Given the description of an element on the screen output the (x, y) to click on. 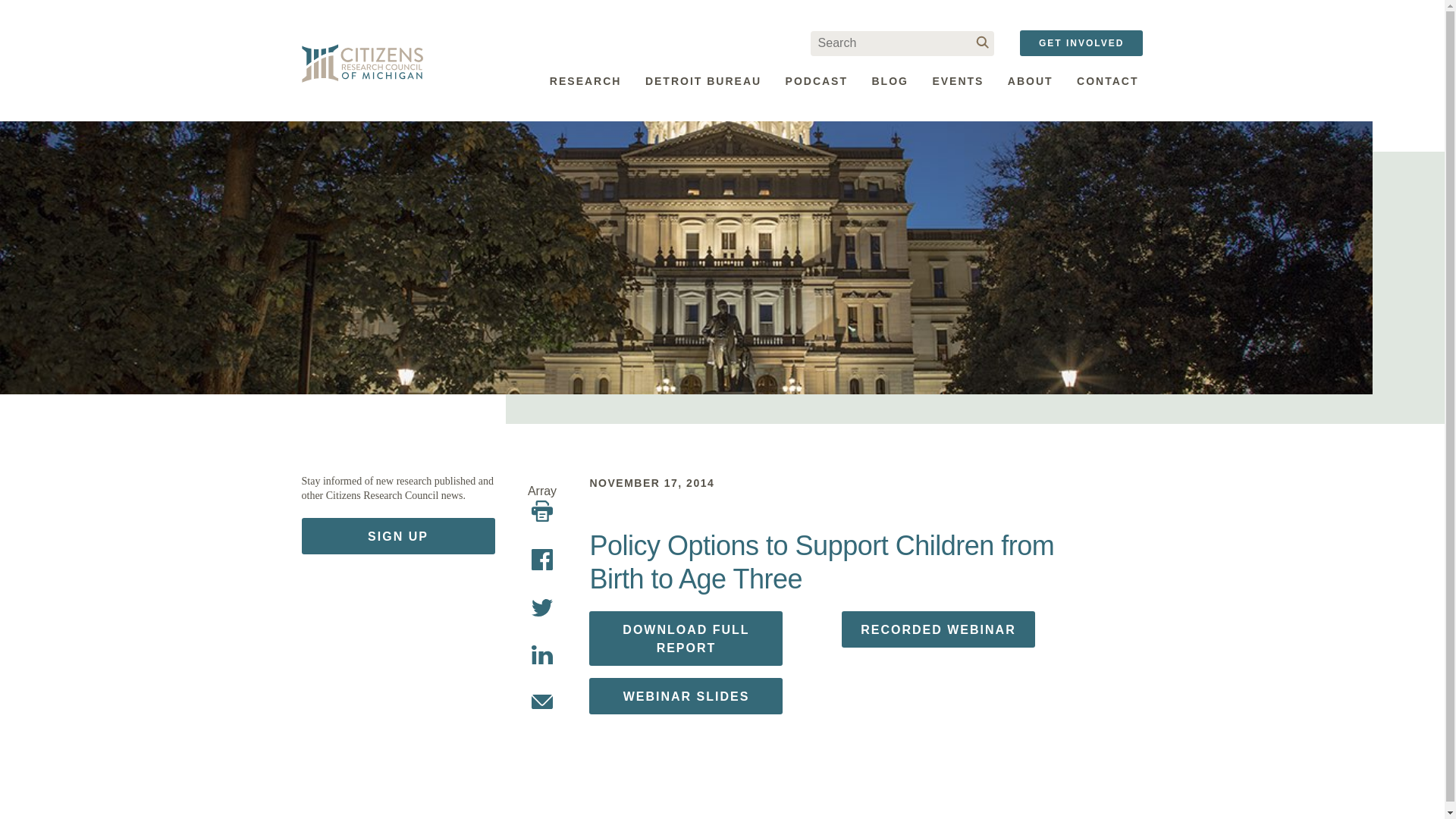
RESEARCH (585, 80)
DOWNLOAD FULL REPORT (686, 637)
RECORDED WEBINAR (938, 628)
BLOG (889, 80)
CONTACT (1106, 80)
ABOUT (1030, 80)
WEBINAR SLIDES (686, 696)
EVENTS (957, 80)
SIGN UP (398, 535)
PODCAST (815, 80)
